Given the description of an element on the screen output the (x, y) to click on. 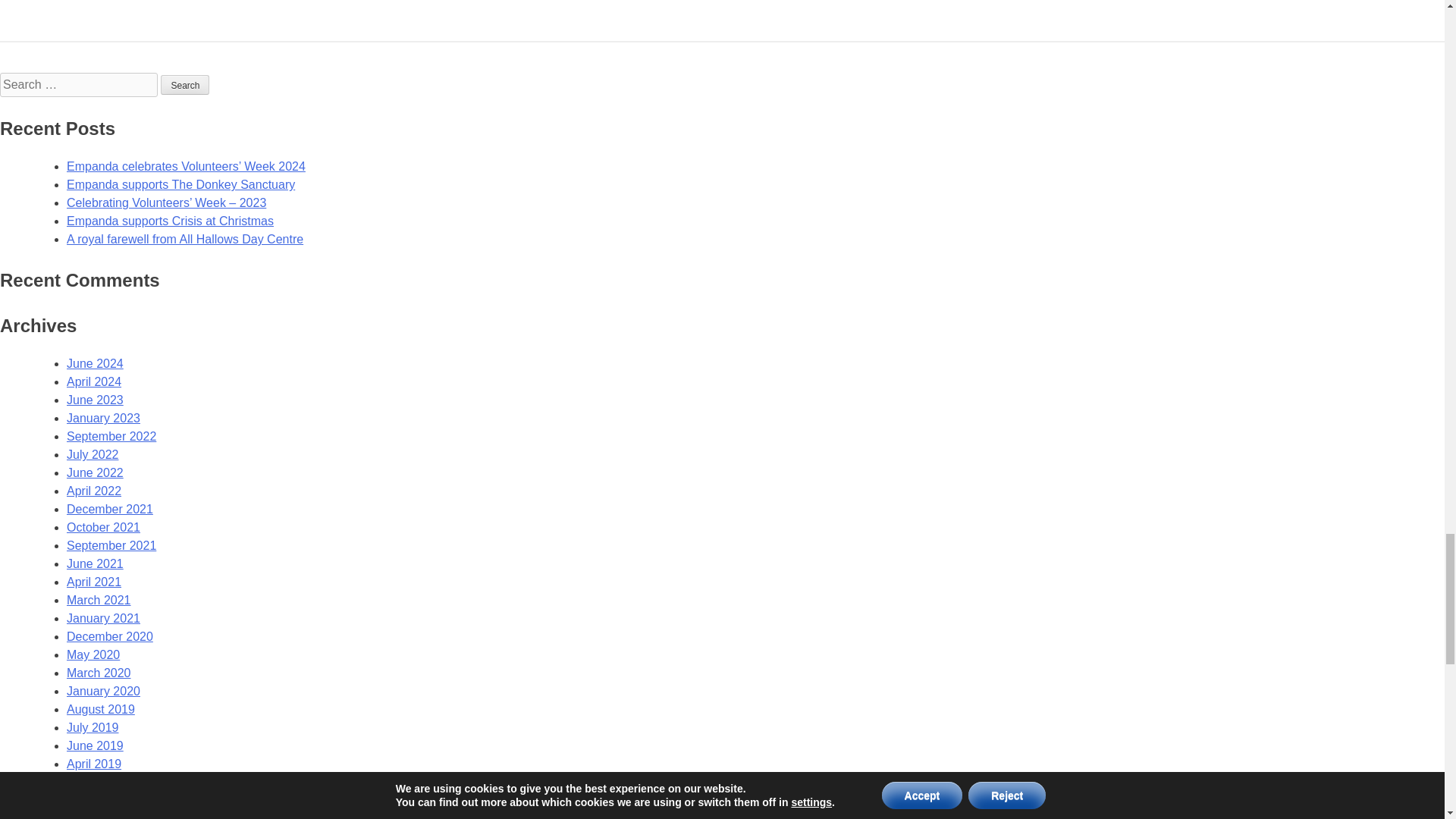
Search (184, 85)
Search (184, 85)
Search (184, 85)
